Given the description of an element on the screen output the (x, y) to click on. 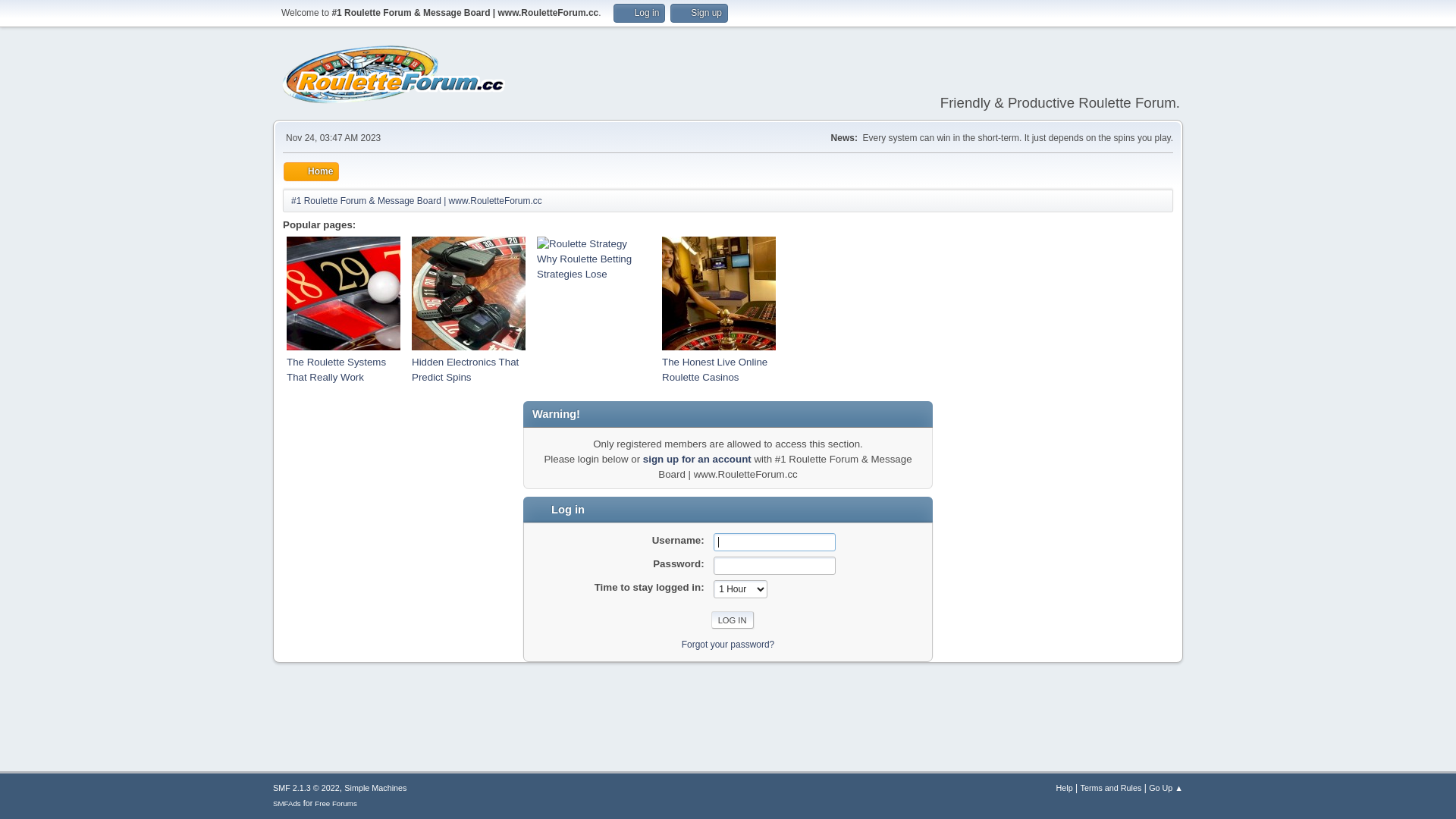
Sign up Element type: text (699, 12)
Hidden Electronics That Predict Spins Element type: text (464, 369)
Why Roulette Betting Strategies Lose Element type: text (583, 266)
Help Element type: text (1064, 787)
Simple Machines Element type: text (375, 787)
Home Element type: text (310, 171)
sign up for an account Element type: text (697, 458)
Log in Element type: text (732, 620)
Forgot your password? Element type: text (728, 643)
Log in Element type: text (639, 12)
#1 Roulette Forum & Message Board | www.RouletteForum.cc Element type: text (416, 198)
Free Forums Element type: text (335, 803)
The Honest Live Online Roulette Casinos Element type: text (714, 369)
SMFAds Element type: text (287, 803)
Terms and Rules Element type: text (1110, 787)
The Roulette Systems That Really Work Element type: text (335, 369)
